Given the description of an element on the screen output the (x, y) to click on. 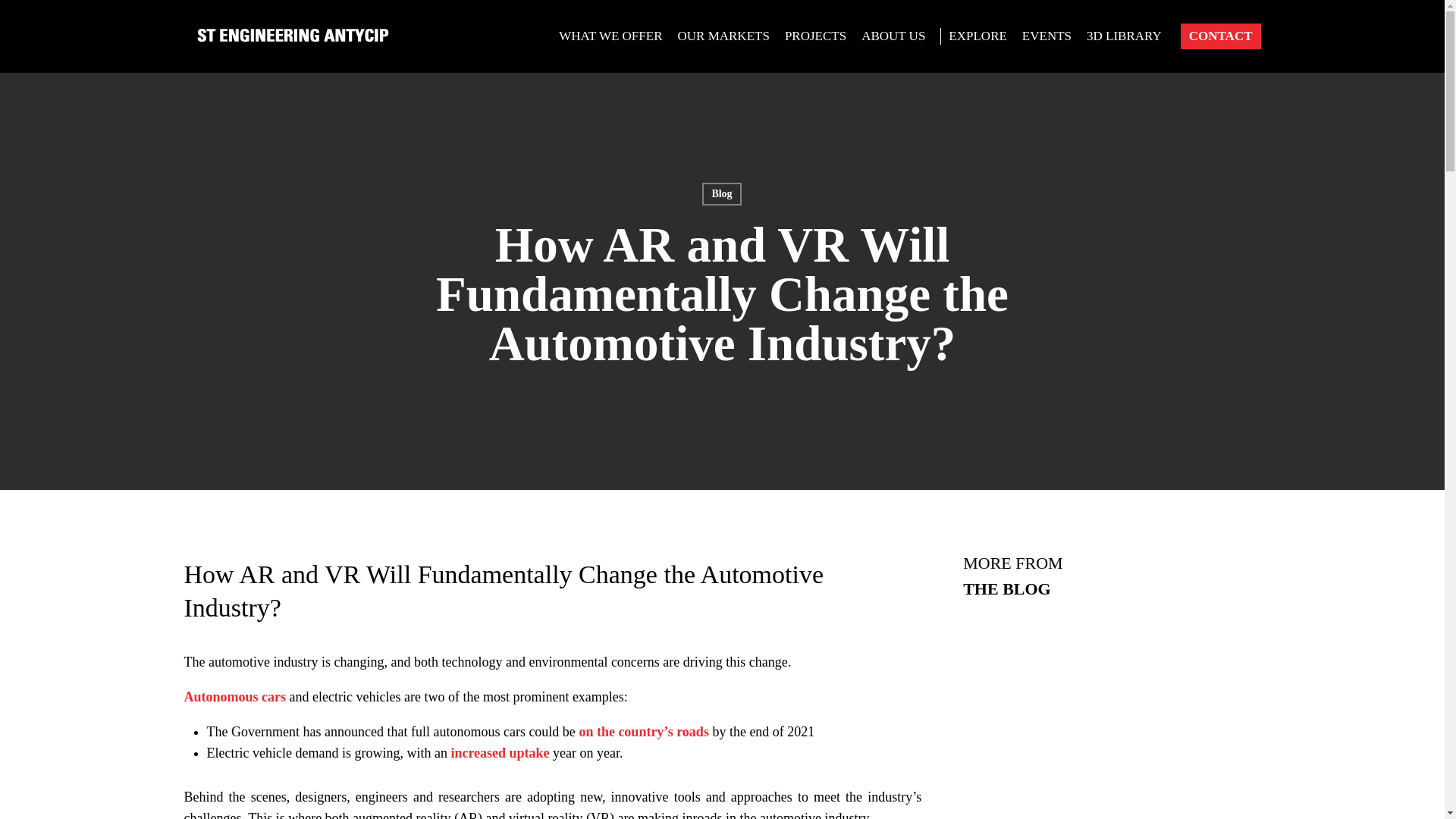
OUR MARKETS (723, 36)
ABOUT US (896, 36)
PROJECTS (815, 36)
WHAT WE OFFER (610, 36)
